Given the description of an element on the screen output the (x, y) to click on. 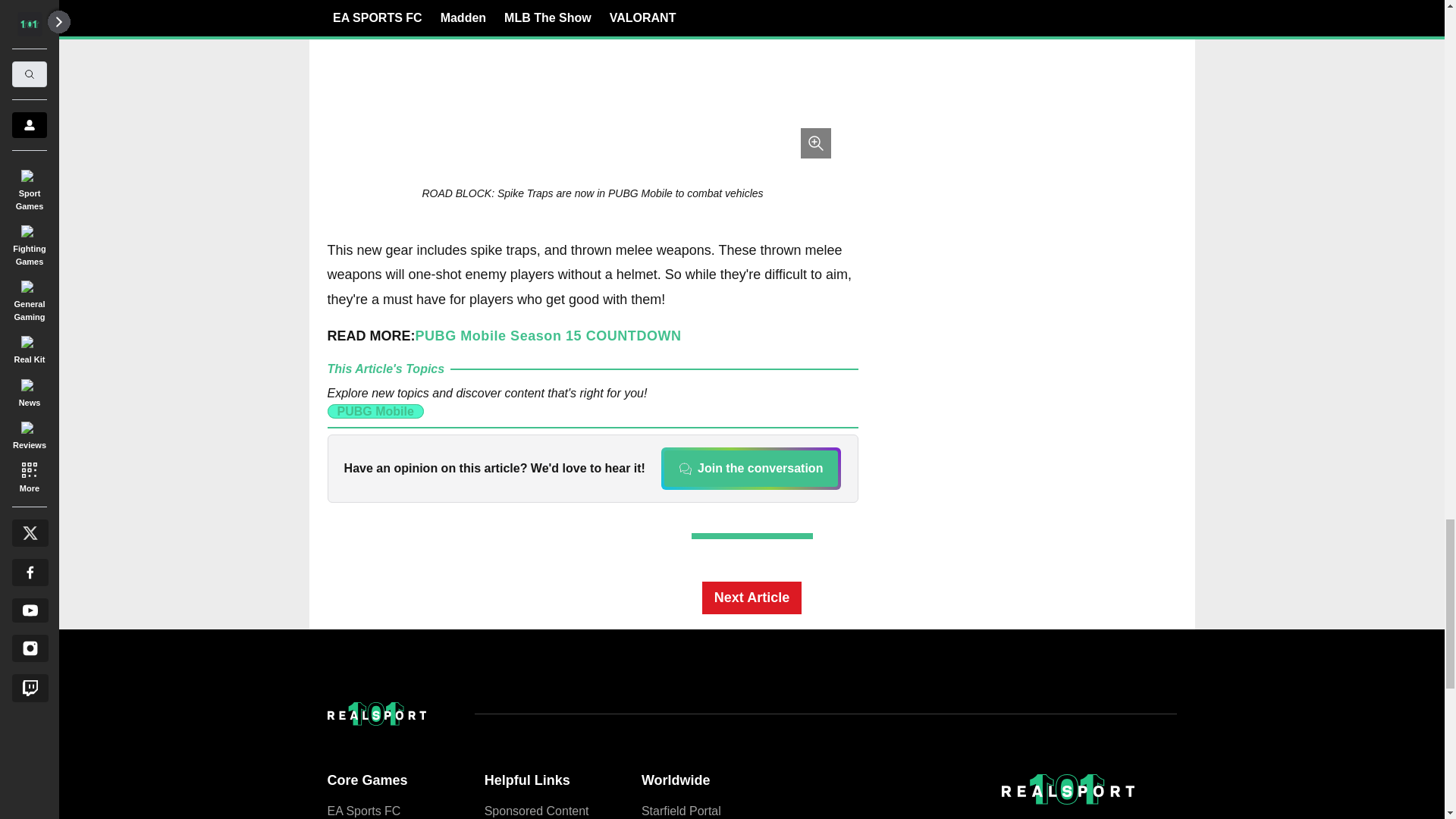
Latest News (1062, 254)
